Given the description of an element on the screen output the (x, y) to click on. 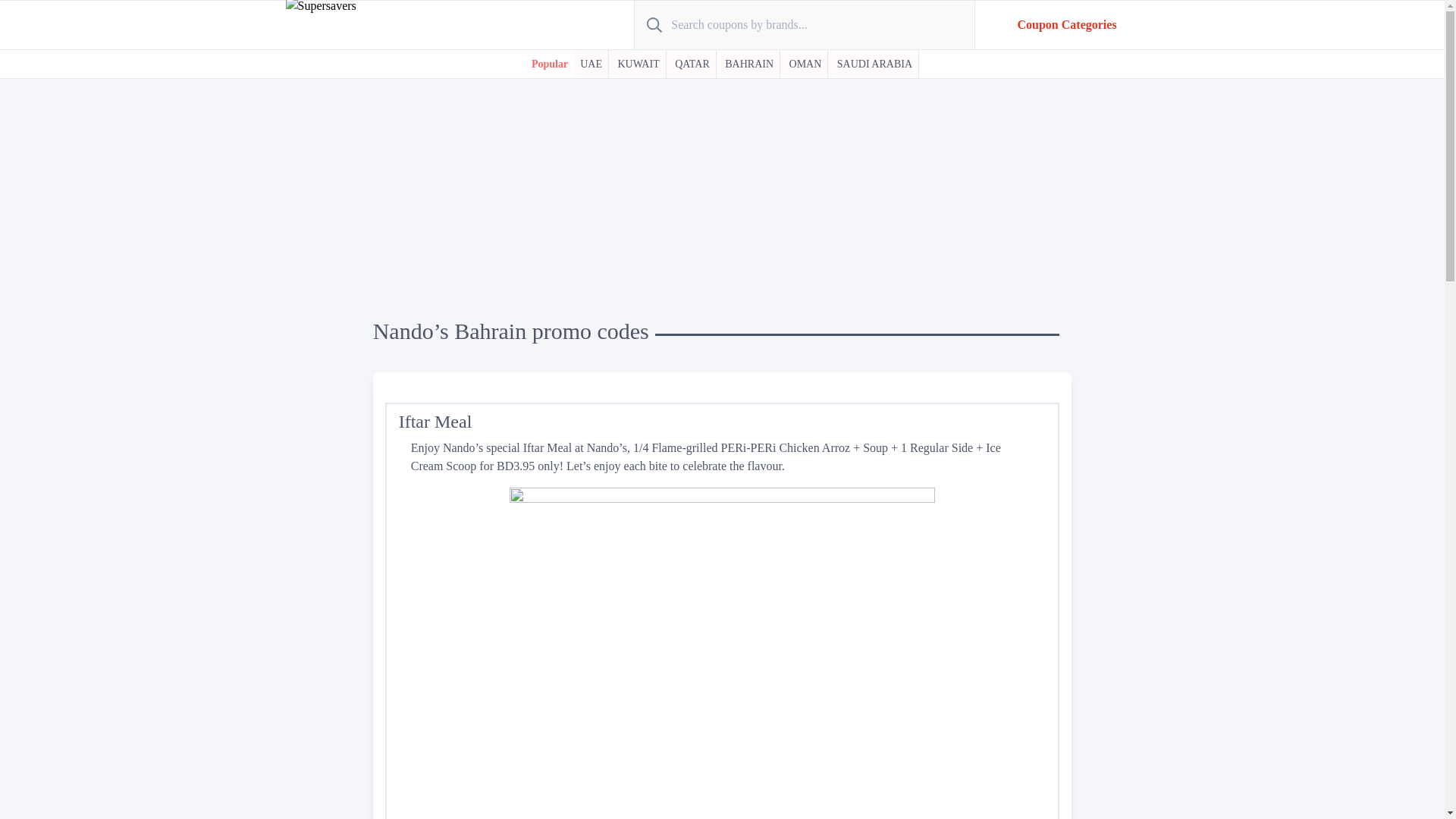
KUWAIT (638, 63)
Coupon Categories (1066, 24)
BAHRAIN (749, 63)
Supersavers (314, 61)
UAE (590, 63)
QATAR (692, 63)
SAUDI ARABIA (874, 63)
OMAN (805, 63)
